Given the description of an element on the screen output the (x, y) to click on. 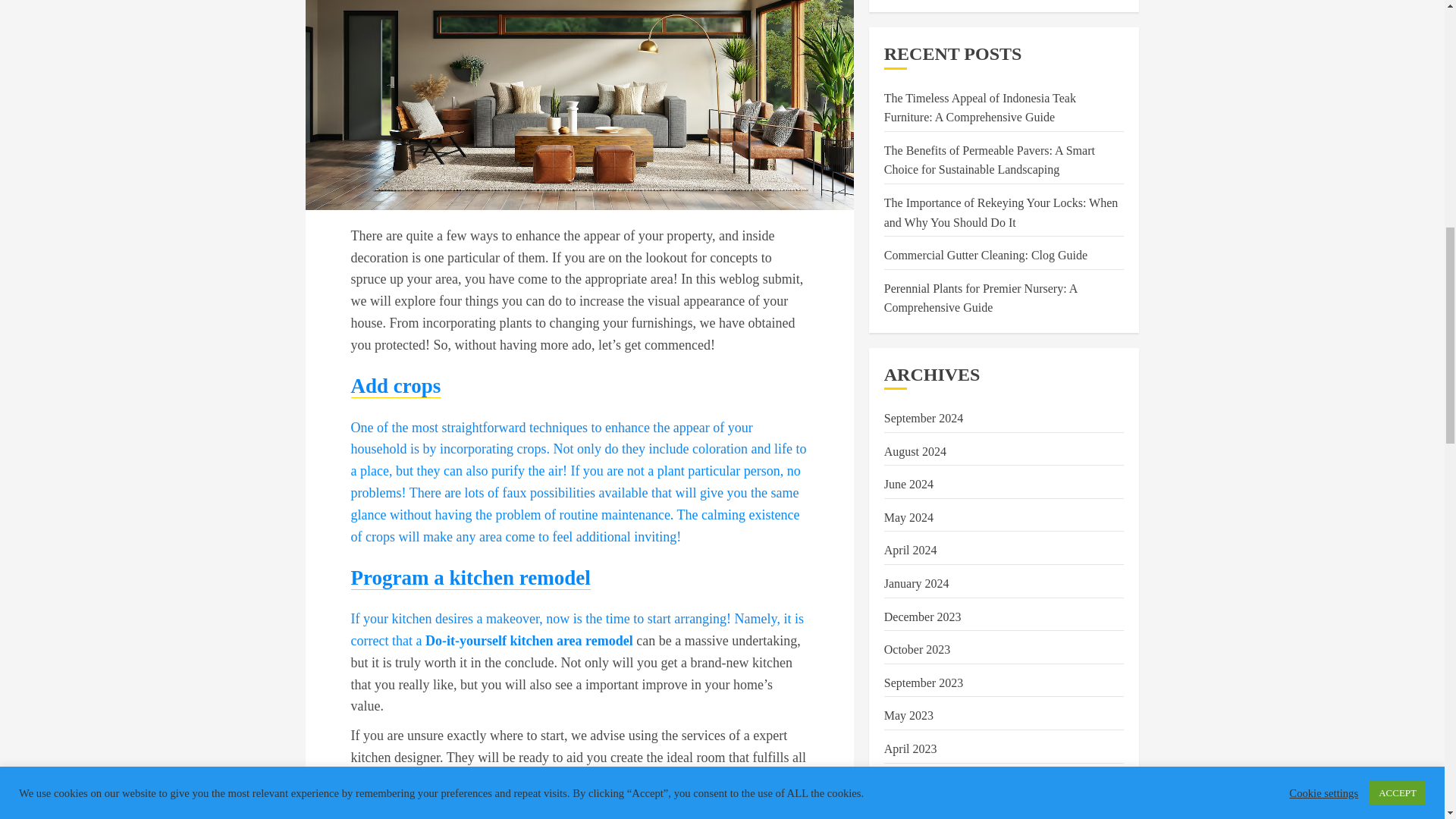
4 Things You Can For Interior Decoration (578, 104)
Do-it-yourself kitchen area remodel (529, 640)
Add crops (395, 386)
Program a kitchen remodel (469, 577)
